Given the description of an element on the screen output the (x, y) to click on. 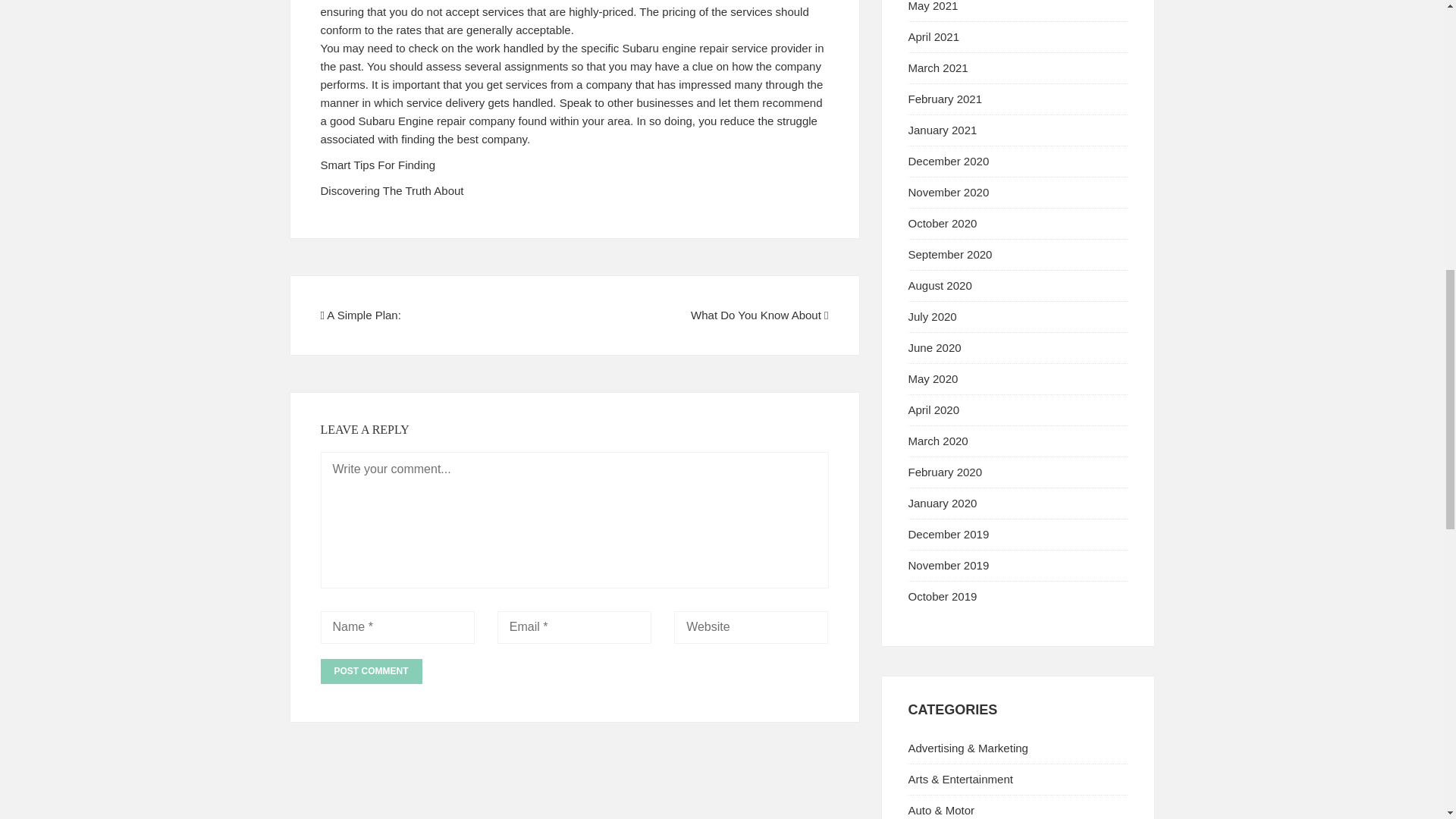
Discovering The Truth About (391, 190)
January 2021 (942, 129)
August 2020 (940, 285)
February 2020 (945, 472)
March 2020 (938, 440)
March 2021 (938, 67)
December 2019 (949, 533)
February 2021 (945, 98)
January 2020 (942, 502)
Post Comment (371, 671)
November 2019 (949, 564)
A Simple Plan: (363, 314)
April 2021 (933, 36)
November 2020 (949, 192)
June 2020 (934, 347)
